Given the description of an element on the screen output the (x, y) to click on. 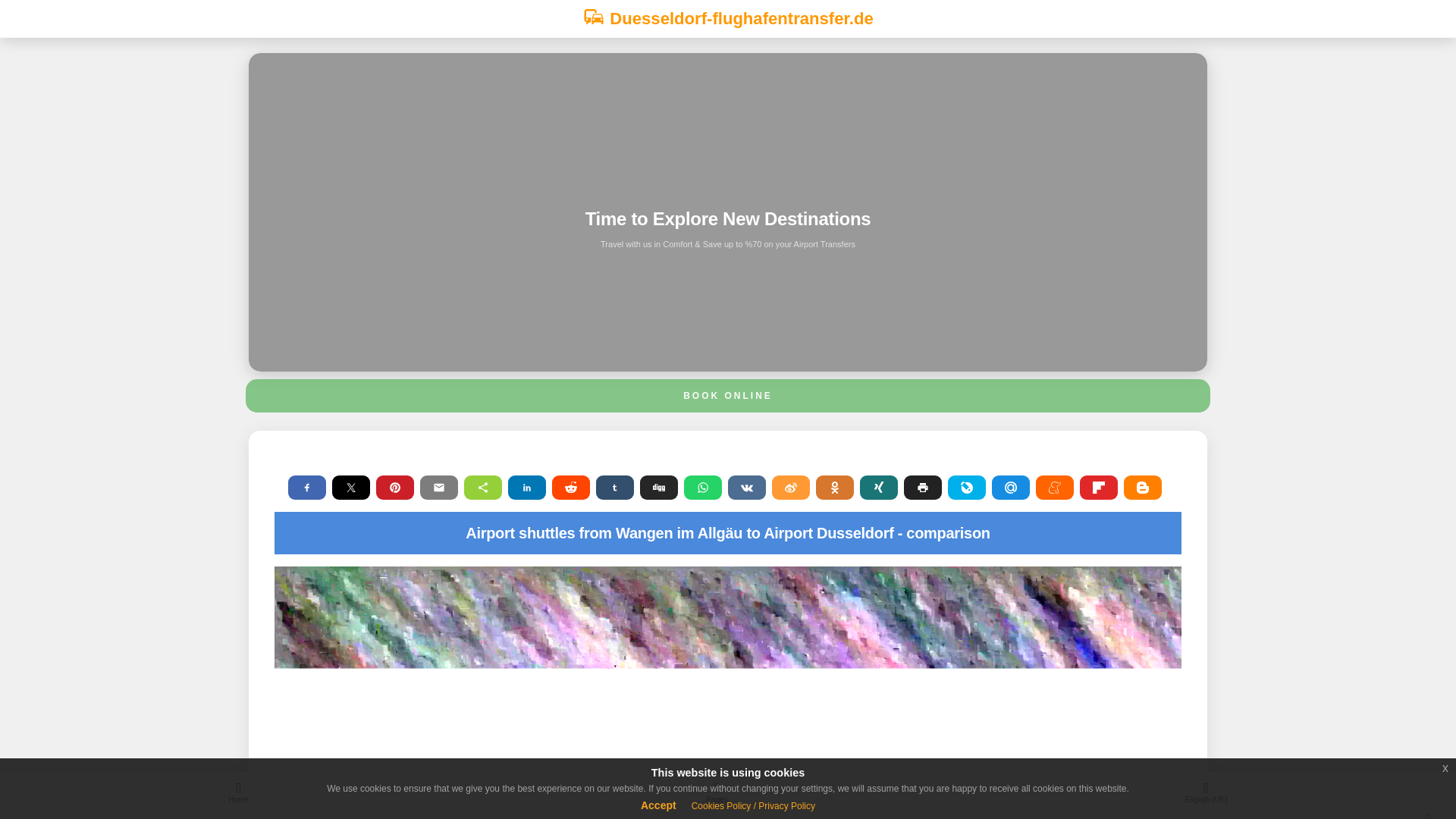
Accept (658, 805)
Pages (716, 795)
BOOK ONLINE (727, 395)
Home (238, 795)
